Given the description of an element on the screen output the (x, y) to click on. 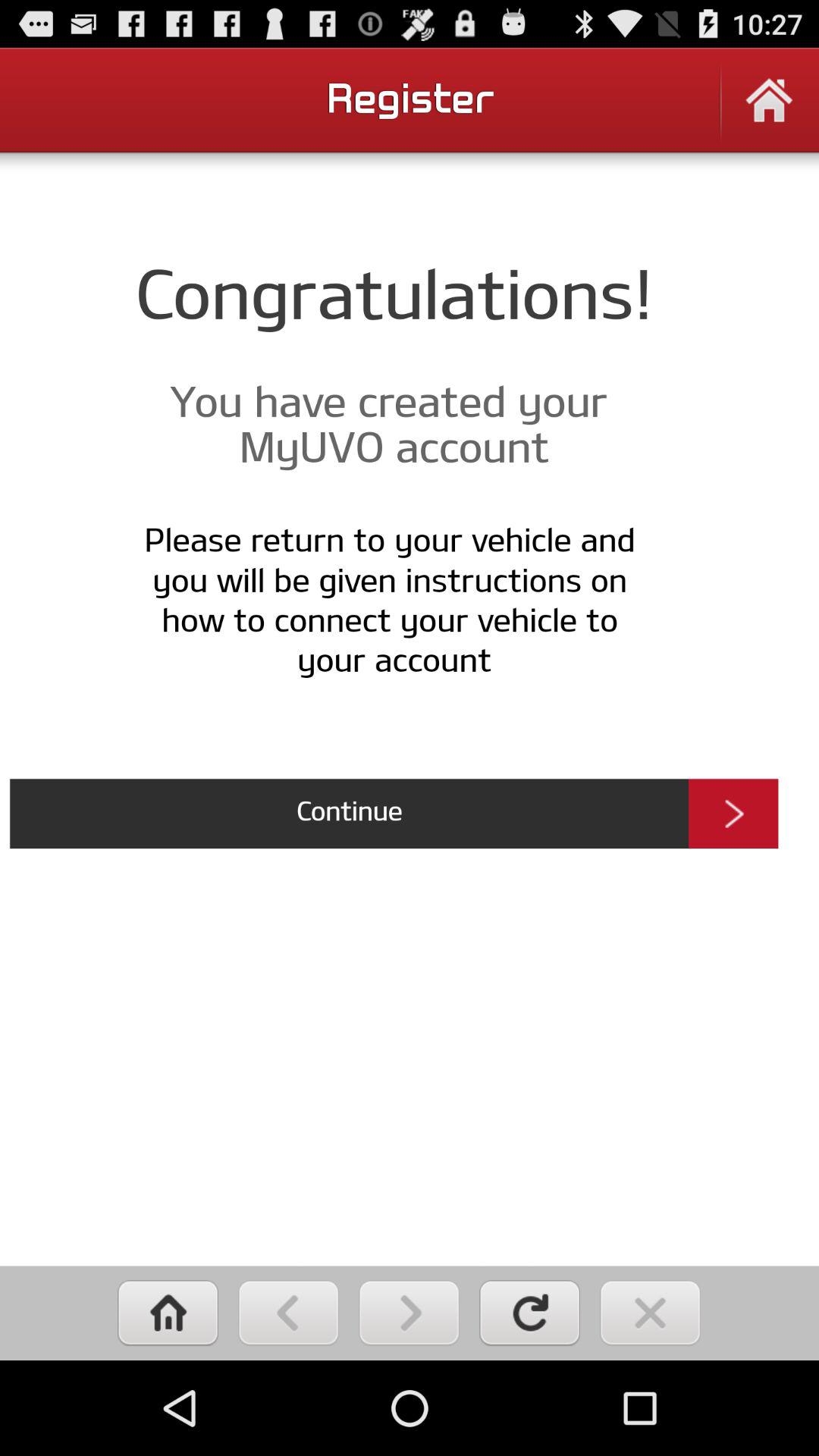
home button (769, 110)
